Given the description of an element on the screen output the (x, y) to click on. 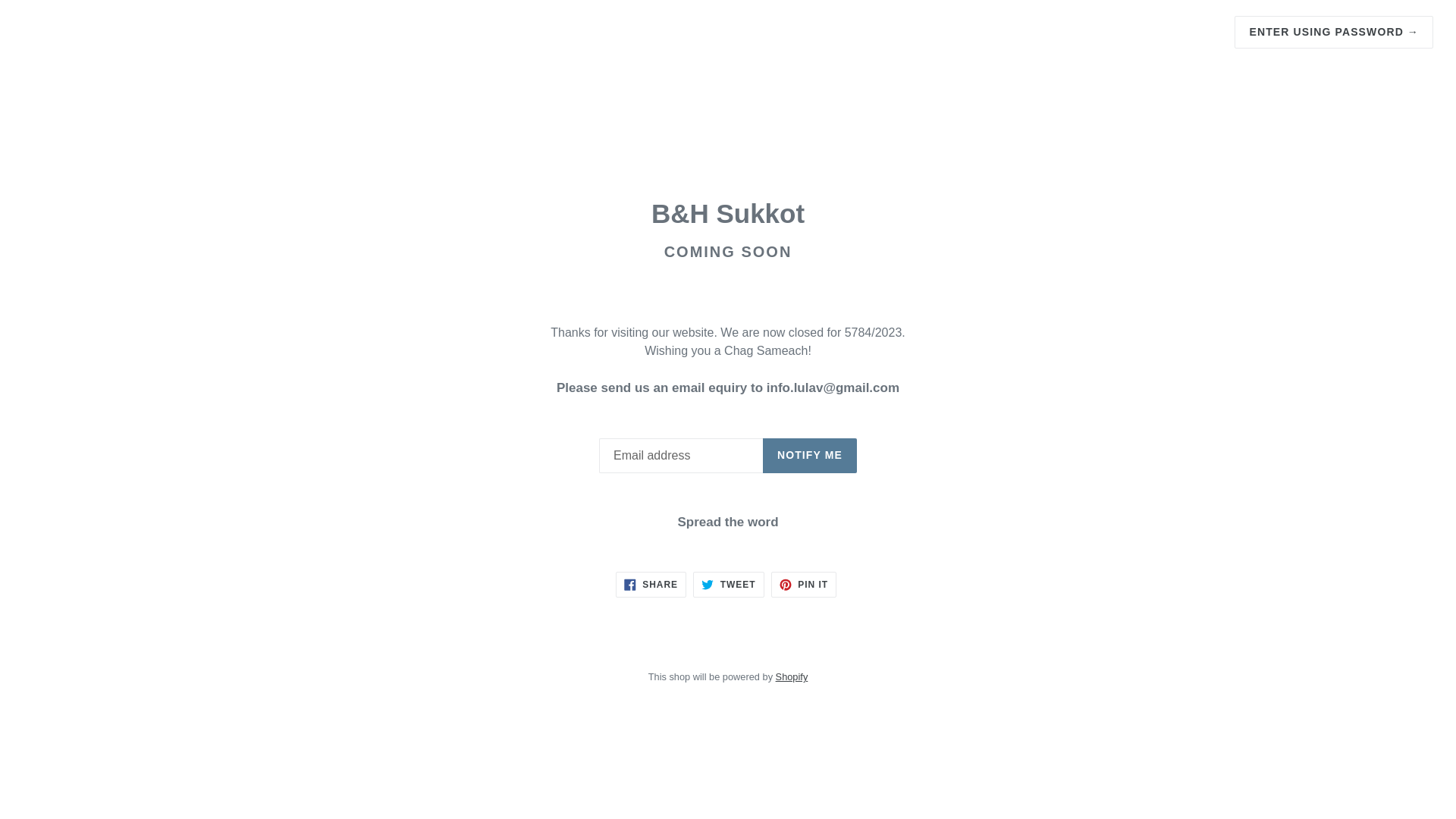
TWEET
TWEET ON TWITTER Element type: text (728, 584)
Shopify Element type: text (791, 676)
PIN IT
PIN ON PINTEREST Element type: text (803, 584)
NOTIFY ME Element type: text (809, 455)
SHARE
SHARE ON FACEBOOK Element type: text (650, 584)
